Given the description of an element on the screen output the (x, y) to click on. 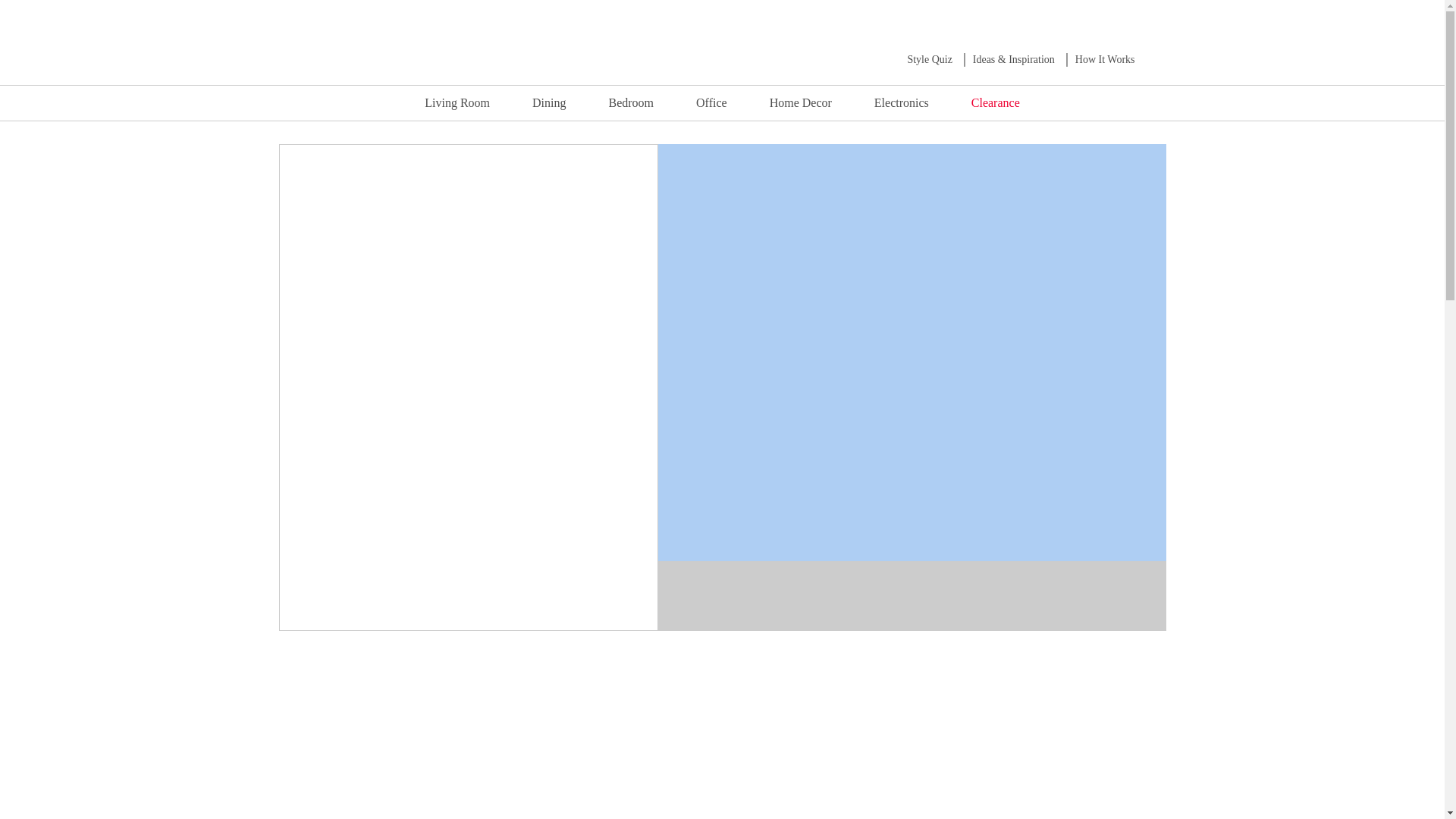
Living Room (457, 102)
Office (711, 102)
Clearance (995, 102)
Bedroom (630, 102)
Dining (548, 102)
Style Quiz (929, 59)
Home Decor (800, 102)
How It Works (1106, 59)
Electronics (901, 102)
